Given the description of an element on the screen output the (x, y) to click on. 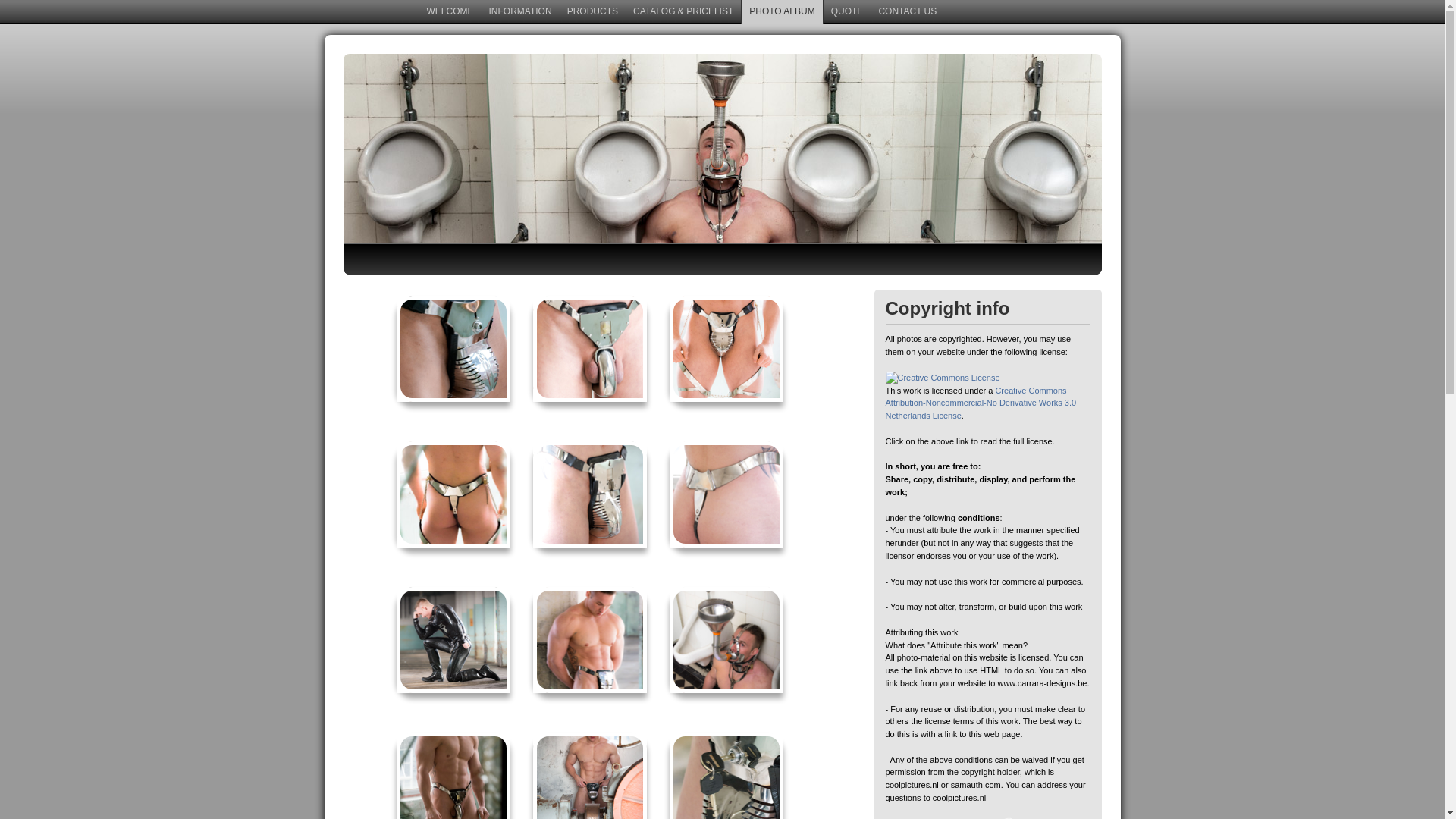
CONTACT US Element type: text (907, 11)
PHOTO ALBUM Element type: text (781, 11)
QUOTE Element type: text (847, 11)
CATALOG & PRICELIST Element type: text (682, 11)
INFORMATION Element type: text (520, 11)
WELCOME Element type: text (449, 11)
PRODUCTS Element type: text (592, 11)
